Given the description of an element on the screen output the (x, y) to click on. 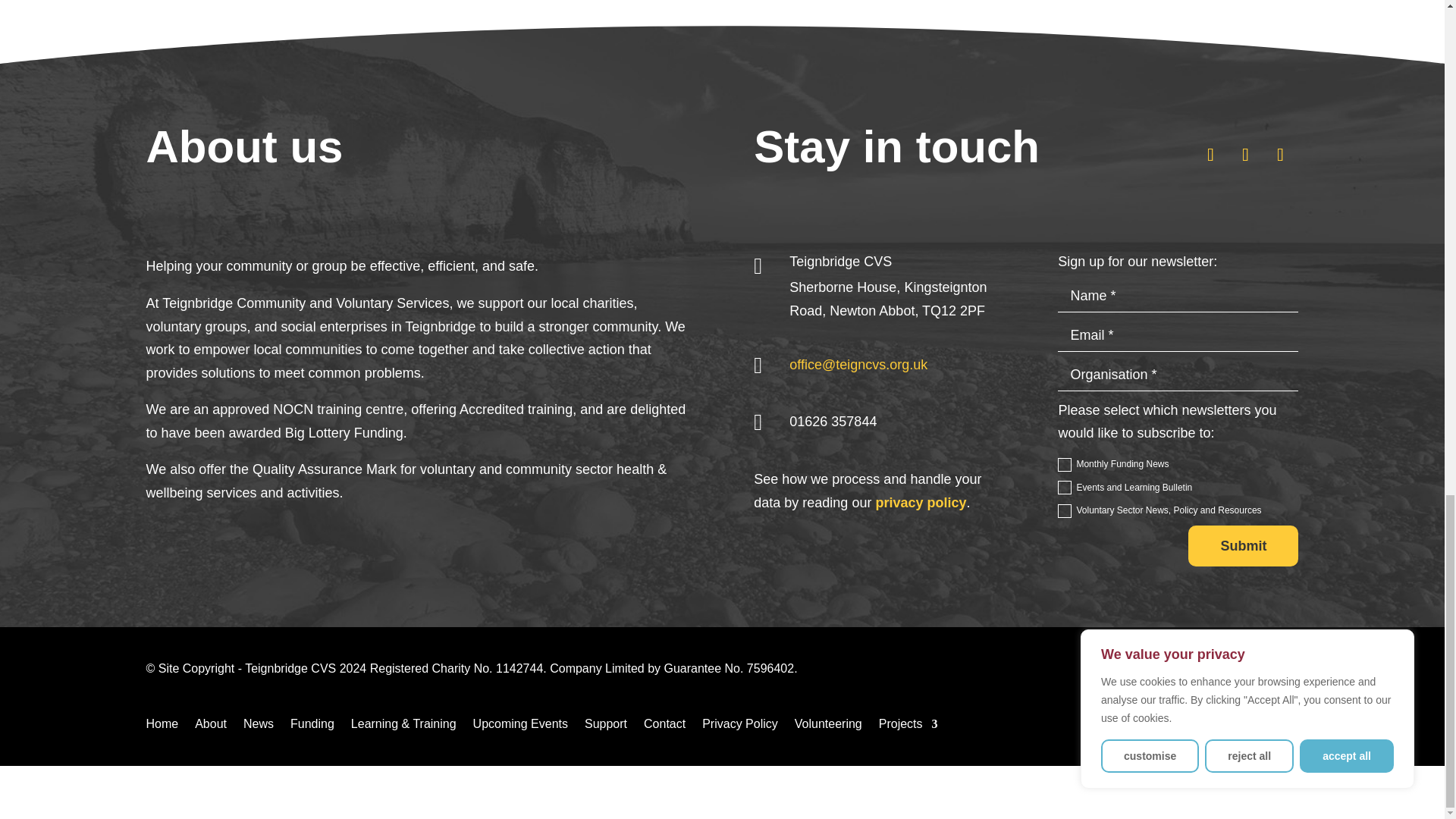
Follow on Facebook (1245, 154)
Follow on X (1210, 154)
Privacy policy (920, 502)
Follow on Instagram (1280, 154)
